Given the description of an element on the screen output the (x, y) to click on. 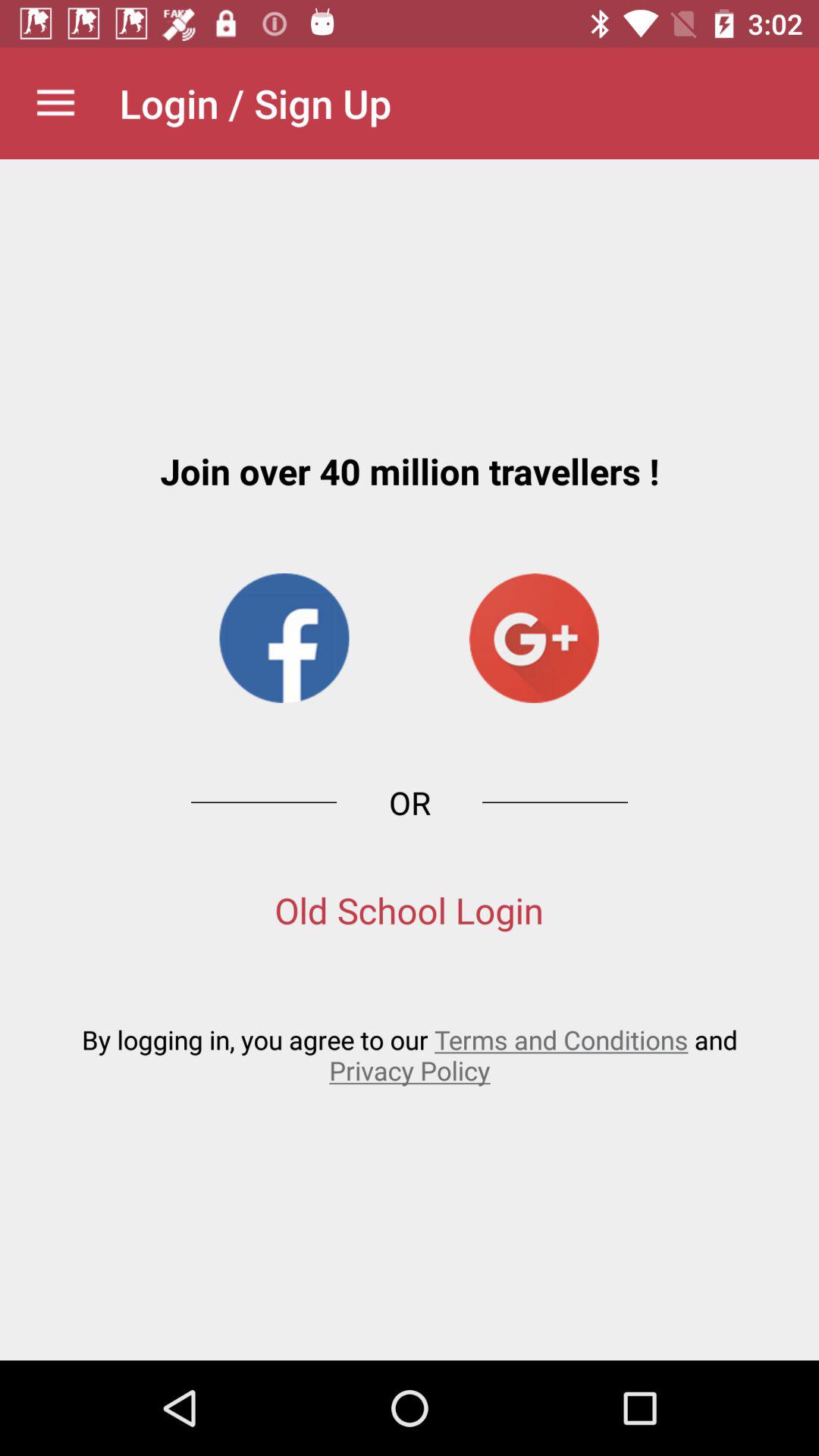
launch the old school login (409, 910)
